Given the description of an element on the screen output the (x, y) to click on. 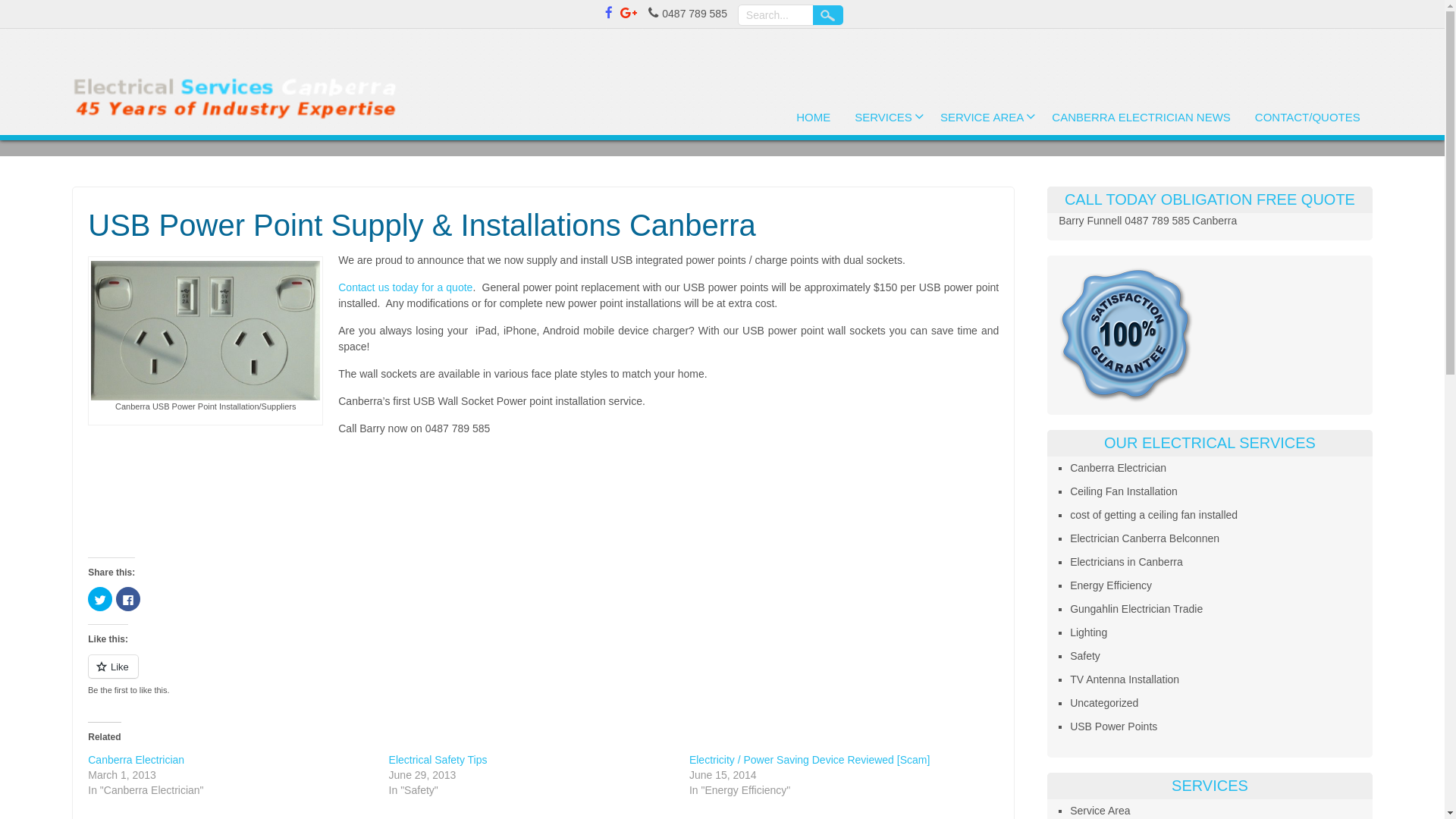
CANBERRA ELECTRICIAN NEWS Element type: text (1141, 118)
Contact us today for a quote Element type: text (405, 287)
Electrician Canberra Belconnen Element type: text (1144, 538)
Electricians in Canberra Element type: text (1126, 561)
CONTACT/QUOTES Element type: text (1307, 118)
Click to share on Facebook (Opens in new window) Element type: text (128, 598)
SERVICES Element type: text (885, 118)
TV Antenna Installation Element type: text (1124, 679)
Search Element type: text (827, 15)
cost of getting a ceiling fan installed Element type: text (1153, 514)
SERVICE AREA Element type: text (983, 118)
Click to share on Twitter (Opens in new window) Element type: text (99, 598)
Canberra Electrician Element type: text (1118, 467)
Electrical Safety Tips Element type: text (438, 759)
Service Area Element type: text (1099, 810)
0487 789 585 Element type: text (1156, 220)
Safety Element type: text (1085, 655)
USB Power Points Element type: text (1113, 726)
HOME Element type: text (812, 118)
Ceiling Fan Installation Element type: text (1123, 491)
Uncategorized Element type: text (1104, 702)
Energy Efficiency Element type: text (1110, 585)
Canberra Electrician Element type: text (135, 759)
Lighting Element type: text (1088, 632)
Canberra USB Power Points Installation Suppliers Element type: hover (205, 330)
Electricity / Power Saving Device Reviewed [Scam] Element type: text (809, 759)
Gungahlin Electrician Tradie Element type: text (1136, 608)
